Given the description of an element on the screen output the (x, y) to click on. 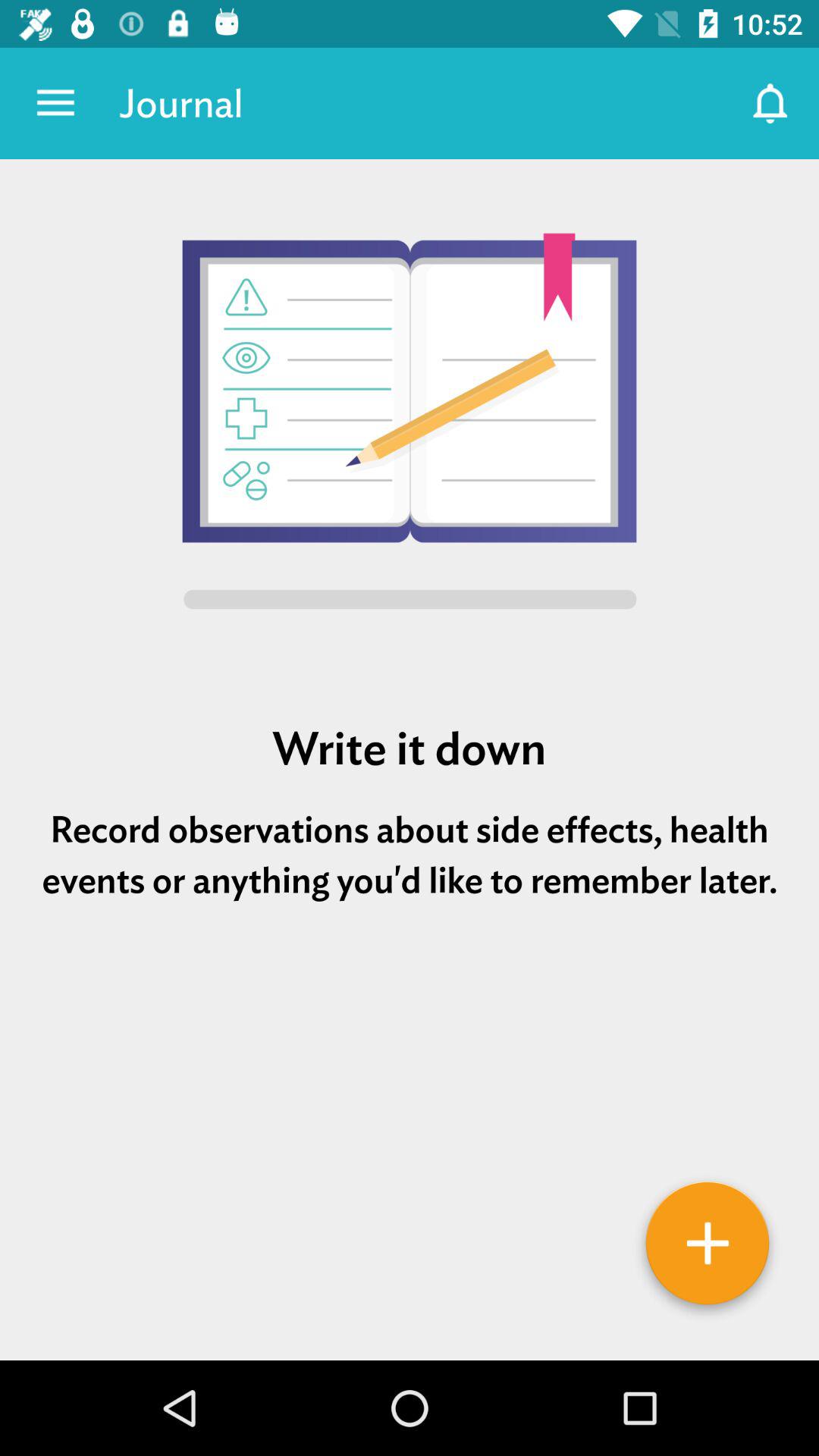
click record observations about item (409, 855)
